Given the description of an element on the screen output the (x, y) to click on. 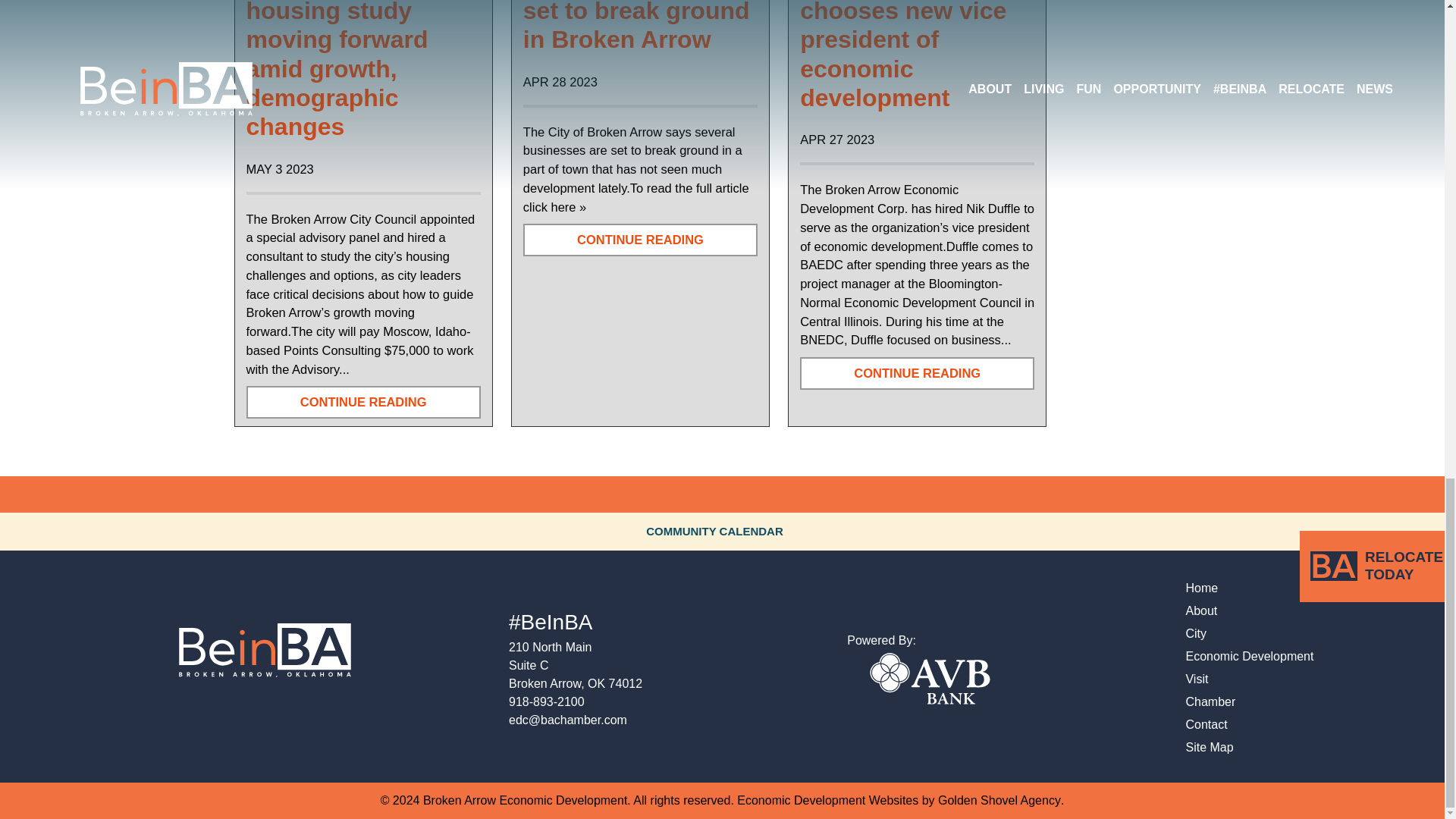
CONTINUE READING (363, 401)
CONTINUE READING (639, 239)
Several businesses set to break ground in Broken Arrow (635, 26)
CONTINUE READING (916, 373)
